Given the description of an element on the screen output the (x, y) to click on. 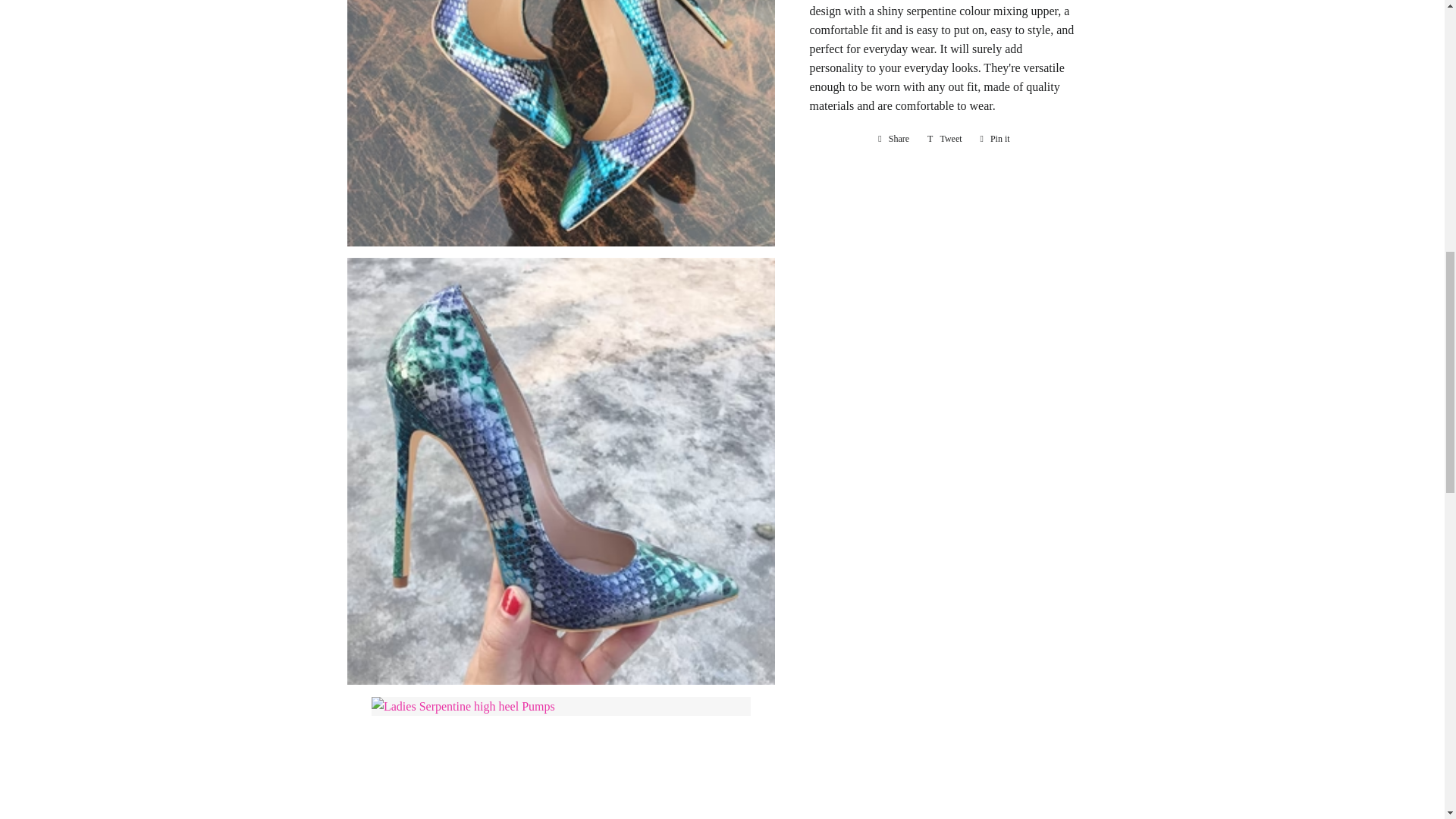
Share on Facebook (893, 138)
Pin on Pinterest (994, 138)
Tweet on Twitter (944, 138)
